Given the description of an element on the screen output the (x, y) to click on. 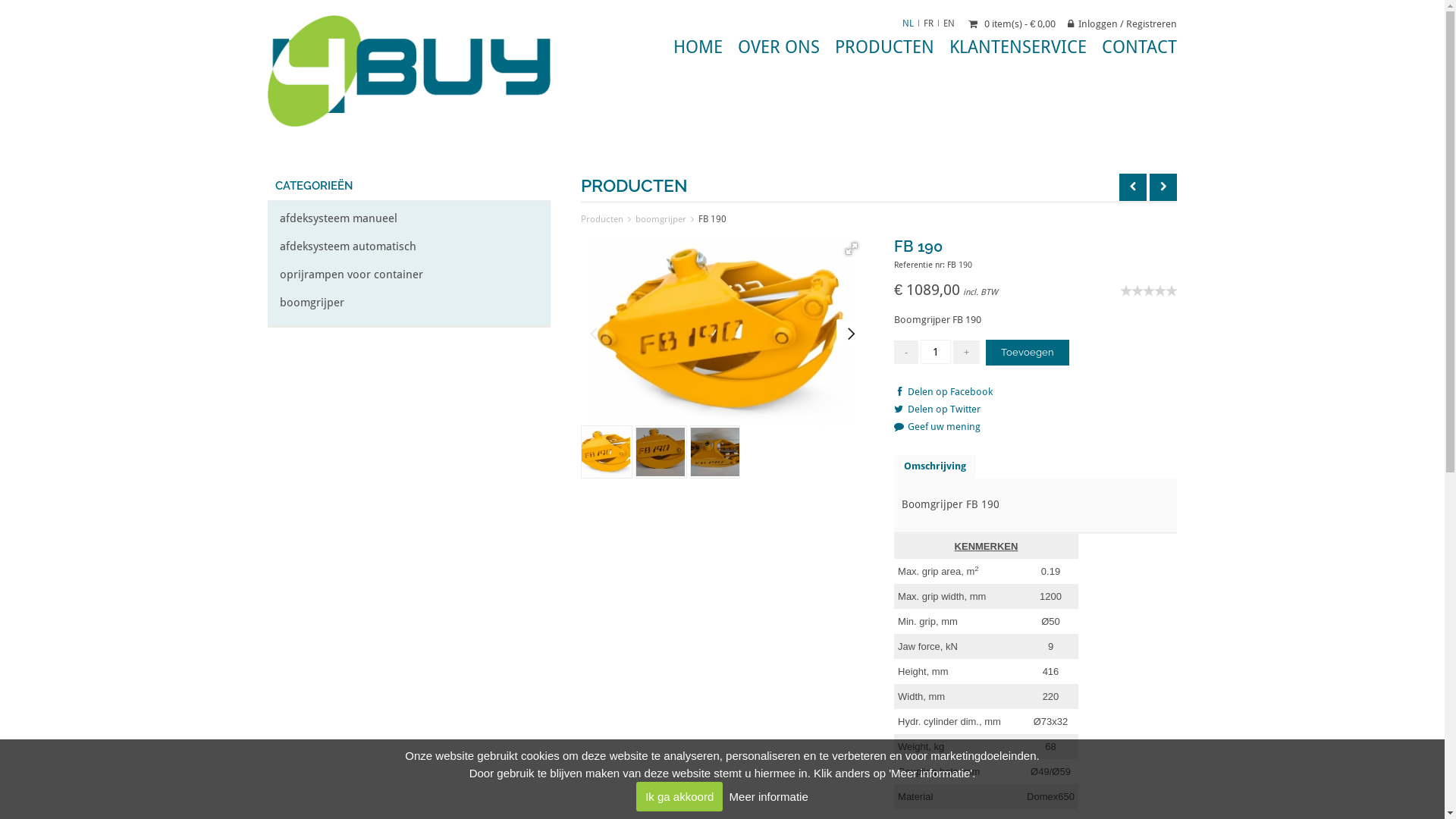
Meer informatie Element type: text (768, 796)
afdeksysteem manueel Element type: text (339, 220)
Omschrijving Element type: text (934, 466)
Toevoegen Element type: text (1027, 352)
PRODUCTEN Element type: text (884, 46)
boomgrijper Element type: text (312, 304)
Producten Element type: text (601, 219)
FB 190 Element type: text (712, 219)
FR Element type: text (928, 24)
CONTACT Element type: text (1138, 46)
Ik ga akkoord Element type: text (679, 796)
boomgrijper Element type: text (660, 219)
HOME Element type: text (697, 46)
oprijrampen voor container Element type: text (352, 276)
NL Element type: text (907, 24)
Delen op Twitter Element type: text (937, 408)
Geef uw mening Element type: text (937, 426)
EN Element type: text (948, 24)
Inloggen / Registreren Element type: text (1121, 24)
OVER ONS Element type: text (778, 46)
Delen op Facebook Element type: text (943, 391)
KLANTENSERVICE Element type: text (1017, 46)
afdeksysteem automatisch Element type: text (348, 248)
Qty Element type: hover (935, 351)
